Given the description of an element on the screen output the (x, y) to click on. 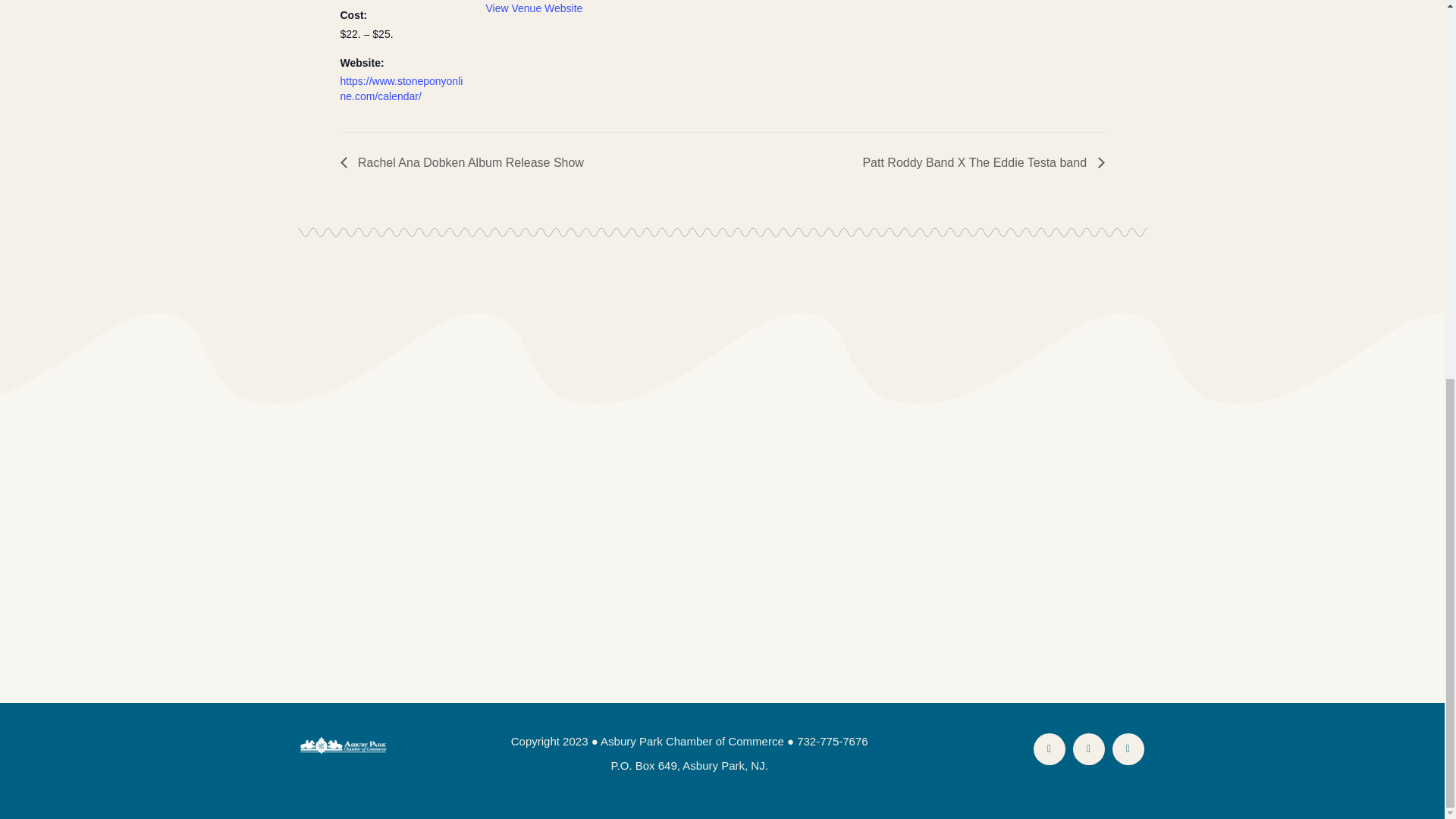
Google maps iframe displaying the address to Stone Pony (710, 18)
